Given the description of an element on the screen output the (x, y) to click on. 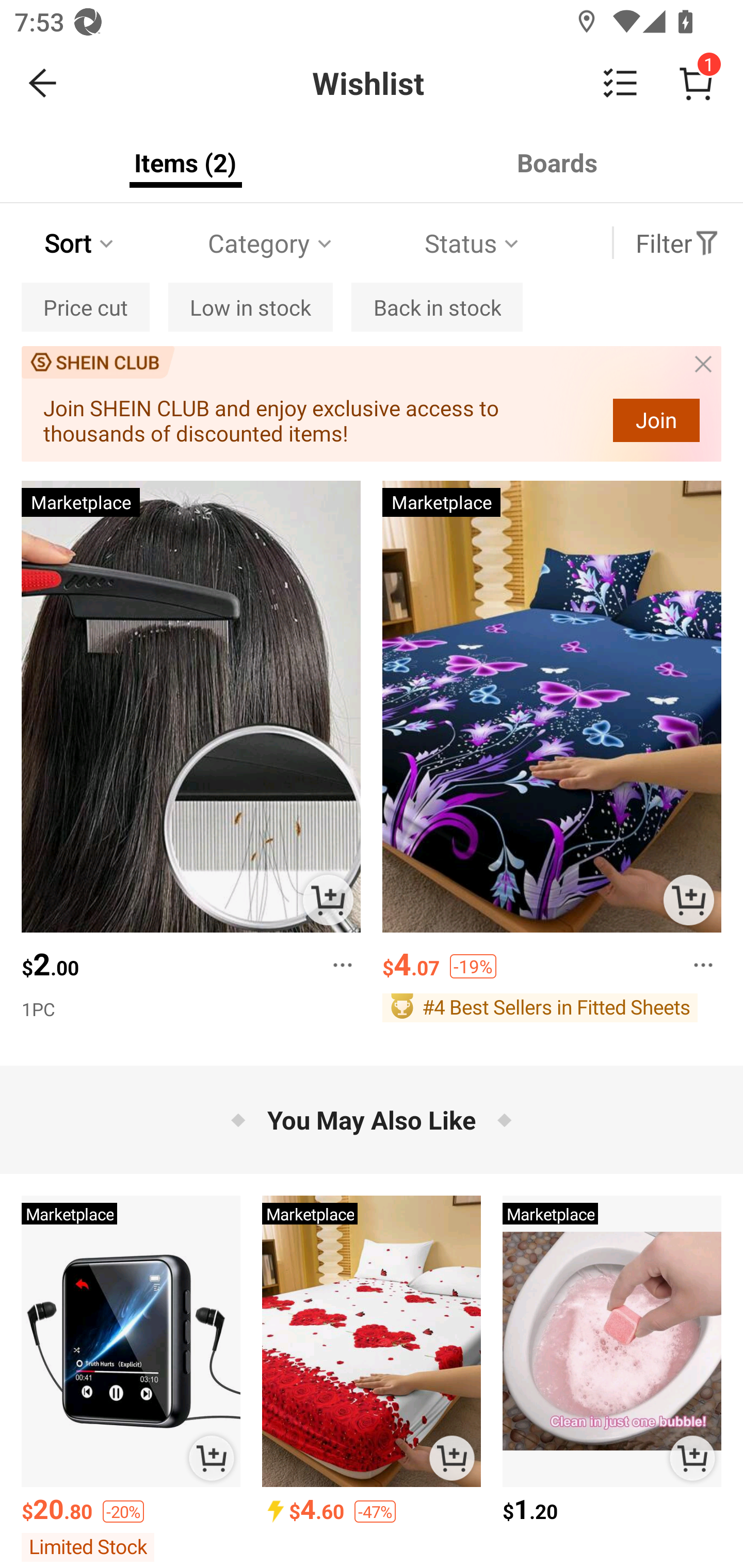
Wishlist change view 1 (414, 82)
1 (695, 82)
change view (620, 82)
BACK (43, 83)
Items (2) (185, 162)
Boards (557, 162)
Sort (80, 242)
Category (271, 242)
Status (473, 242)
Filter (677, 242)
Price cut (85, 307)
Low in stock (249, 307)
Back in stock (436, 307)
ADD TO CART (327, 899)
ADD TO CART (688, 899)
MORE (336, 959)
MORE (697, 959)
You May Also Like (371, 1120)
ADD TO CART (211, 1458)
ADD TO CART (451, 1458)
ADD TO CART (692, 1458)
